Given the description of an element on the screen output the (x, y) to click on. 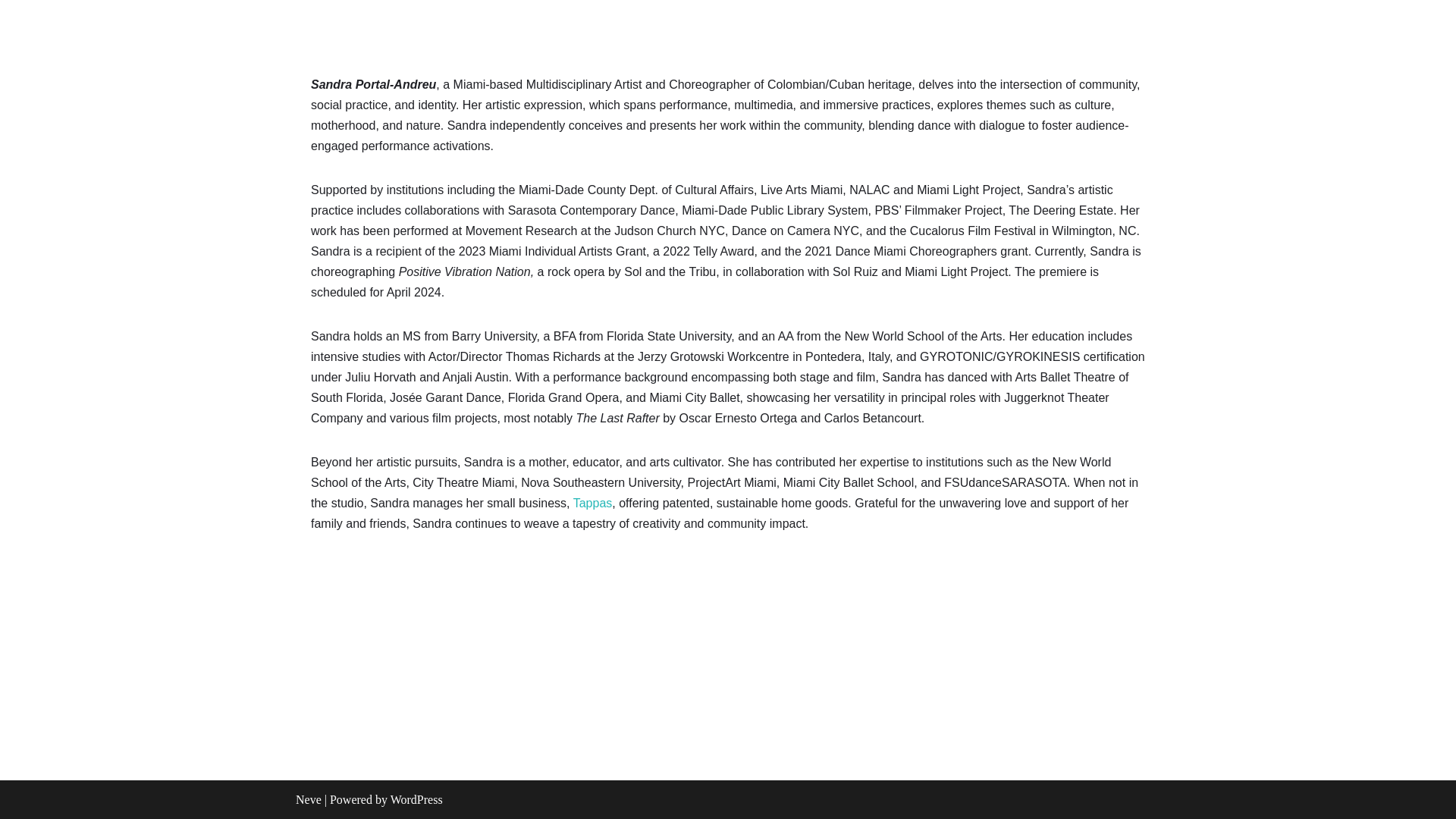
Home (734, 28)
Sandra Portal-Andreu (382, 29)
WordPress (416, 799)
Neve (308, 799)
Skip to content (11, 31)
Contact (1138, 28)
Performance (967, 28)
Tappas (591, 502)
Repertoire (796, 28)
Press (1084, 28)
